Given the description of an element on the screen output the (x, y) to click on. 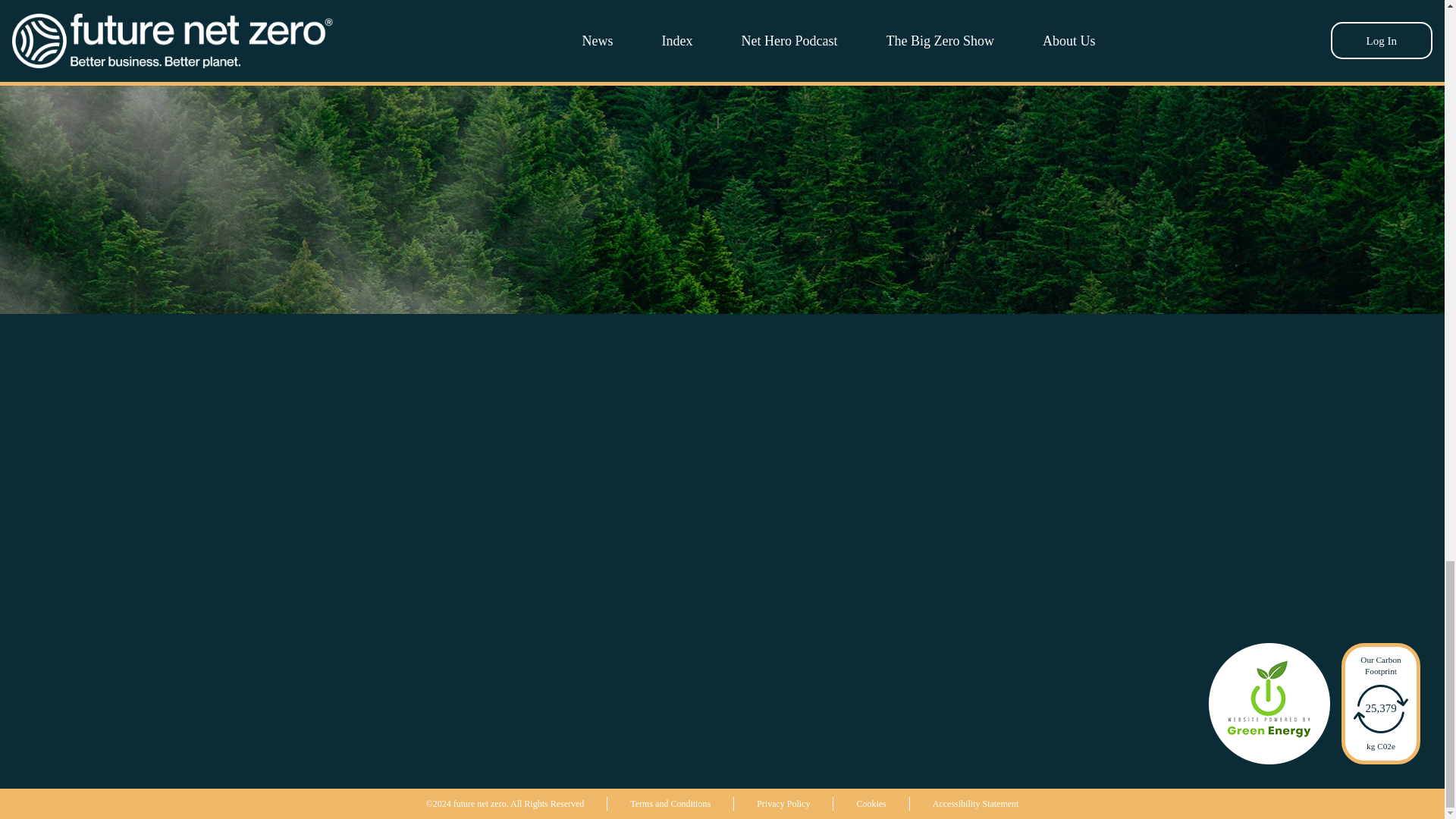
Cookies (870, 803)
Privacy Policy (783, 803)
Terms and Conditions (670, 803)
